Given the description of an element on the screen output the (x, y) to click on. 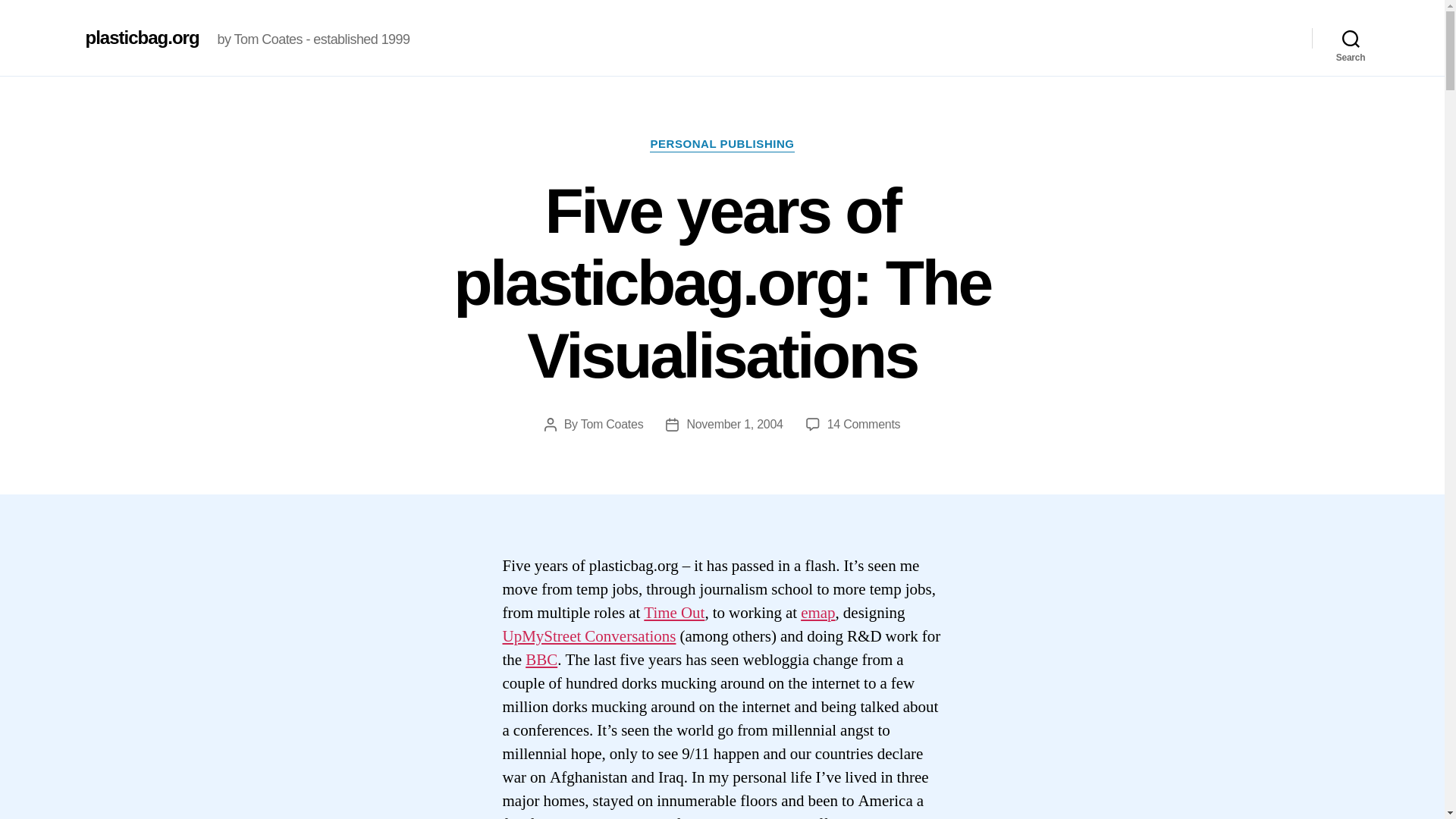
UpMyStreet Conversations (588, 636)
PERSONAL PUBLISHING (721, 144)
Search (1350, 37)
BBC (541, 660)
plasticbag.org (141, 37)
emap (817, 612)
Tom Coates (611, 423)
November 1, 2004 (734, 423)
Time Out (673, 612)
